Given the description of an element on the screen output the (x, y) to click on. 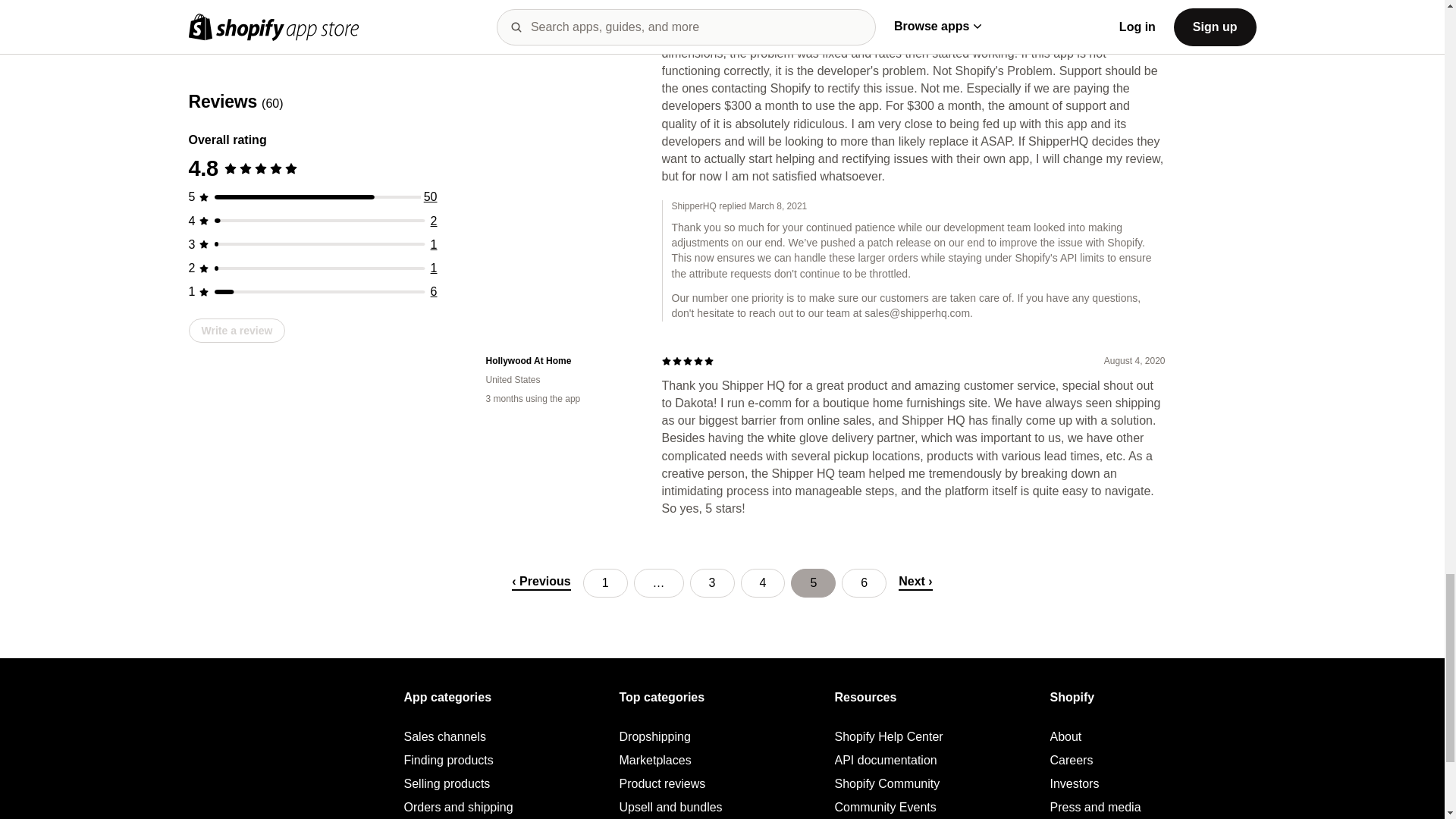
Hollywood At Home (560, 360)
